Given the description of an element on the screen output the (x, y) to click on. 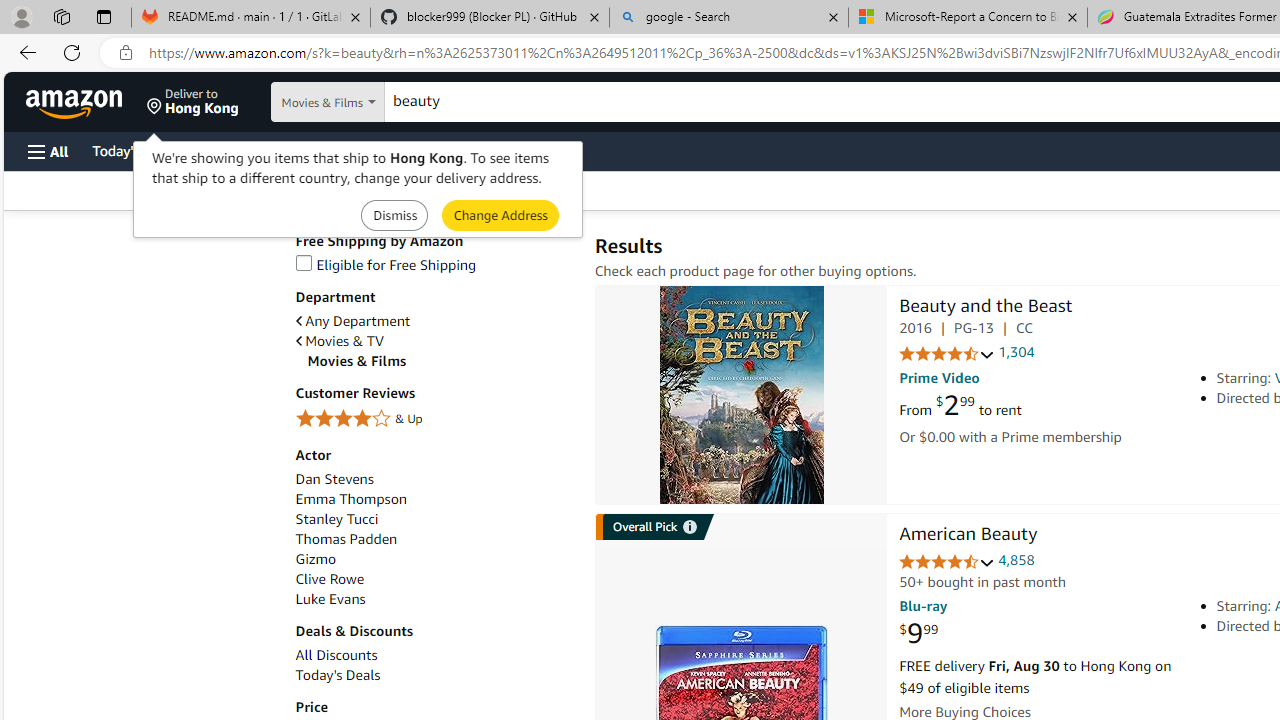
All Discounts (434, 655)
Gizmo (315, 559)
American Beauty (968, 535)
Emma Thompson (350, 499)
Thomas Padden (434, 539)
Eligible for Free Shipping (385, 264)
Amazon (76, 101)
Today's Deals (337, 675)
Beauty and the Beast (985, 308)
Movies & Films (440, 361)
Dan Stevens (333, 479)
